Given the description of an element on the screen output the (x, y) to click on. 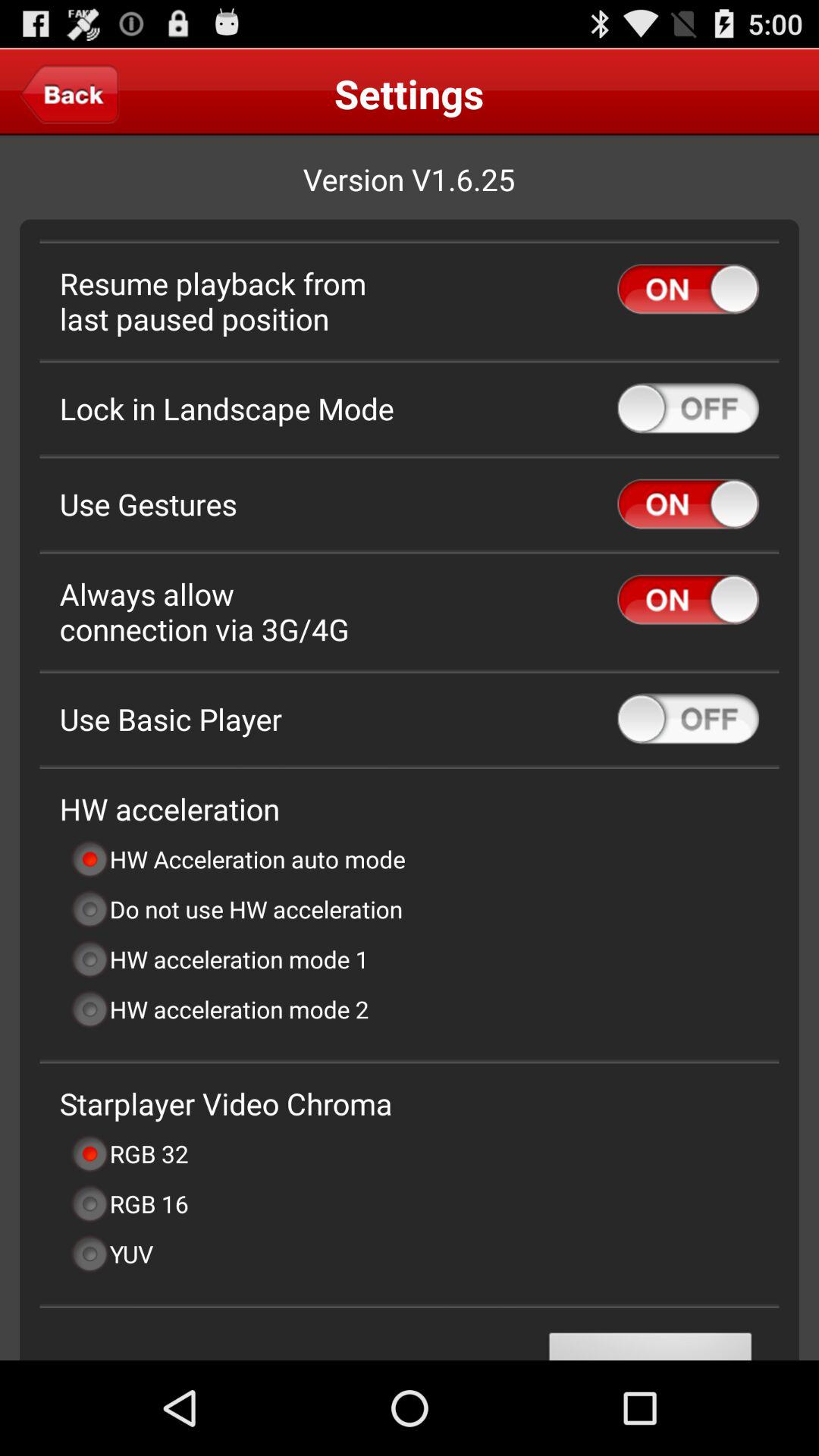
toggle lock in landscape mode (688, 408)
